Given the description of an element on the screen output the (x, y) to click on. 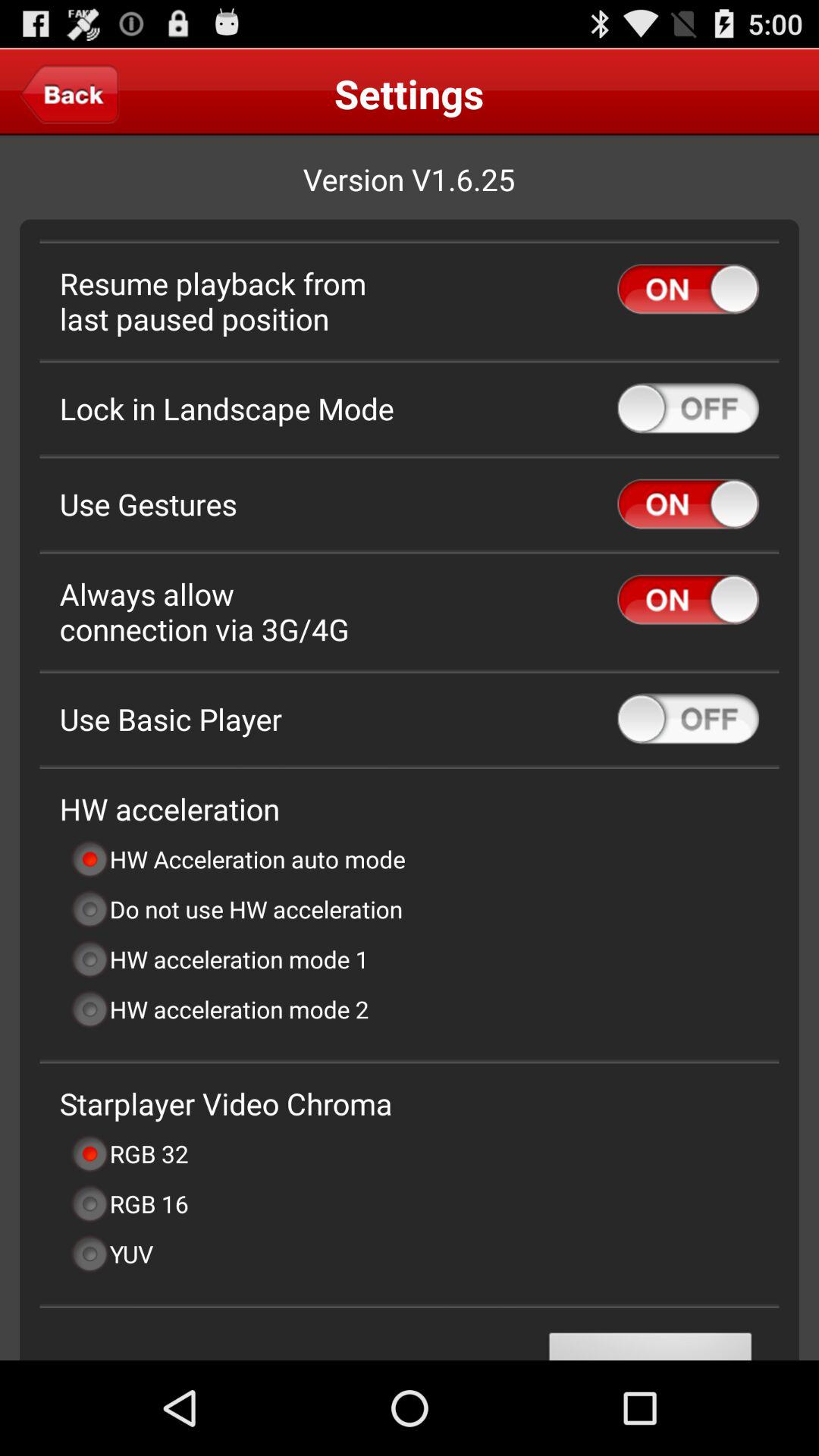
toggle lock in landscape mode (688, 408)
